Given the description of an element on the screen output the (x, y) to click on. 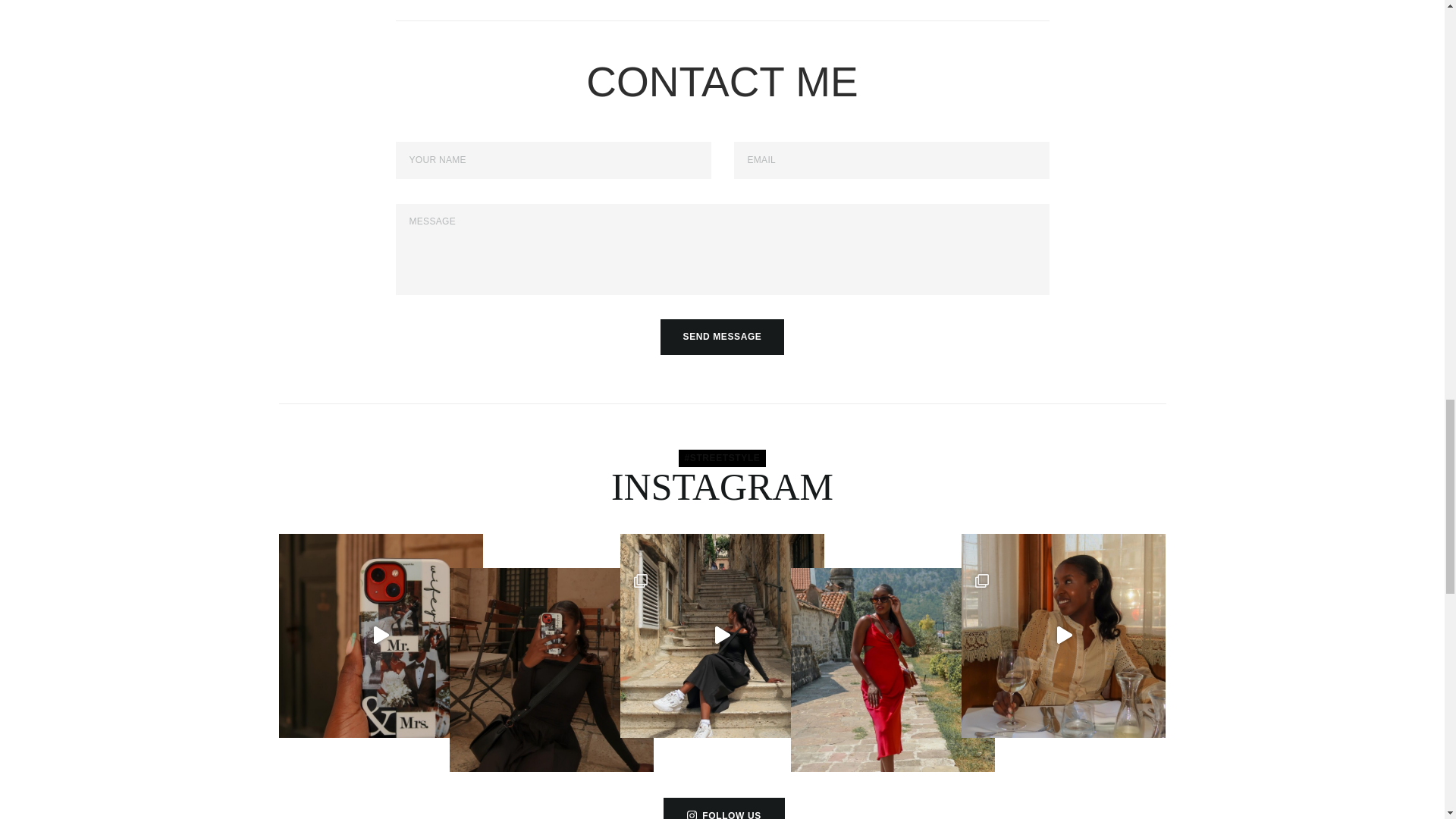
Montenegro, you are cradled between impre (892, 670)
SEND MESSAGE (722, 336)
The very thing I plan on doing because Sicily is t (1063, 635)
If you L-O-V-E this phonecase idea as much as I do (381, 635)
FOLLOW US (723, 808)
